Given the description of an element on the screen output the (x, y) to click on. 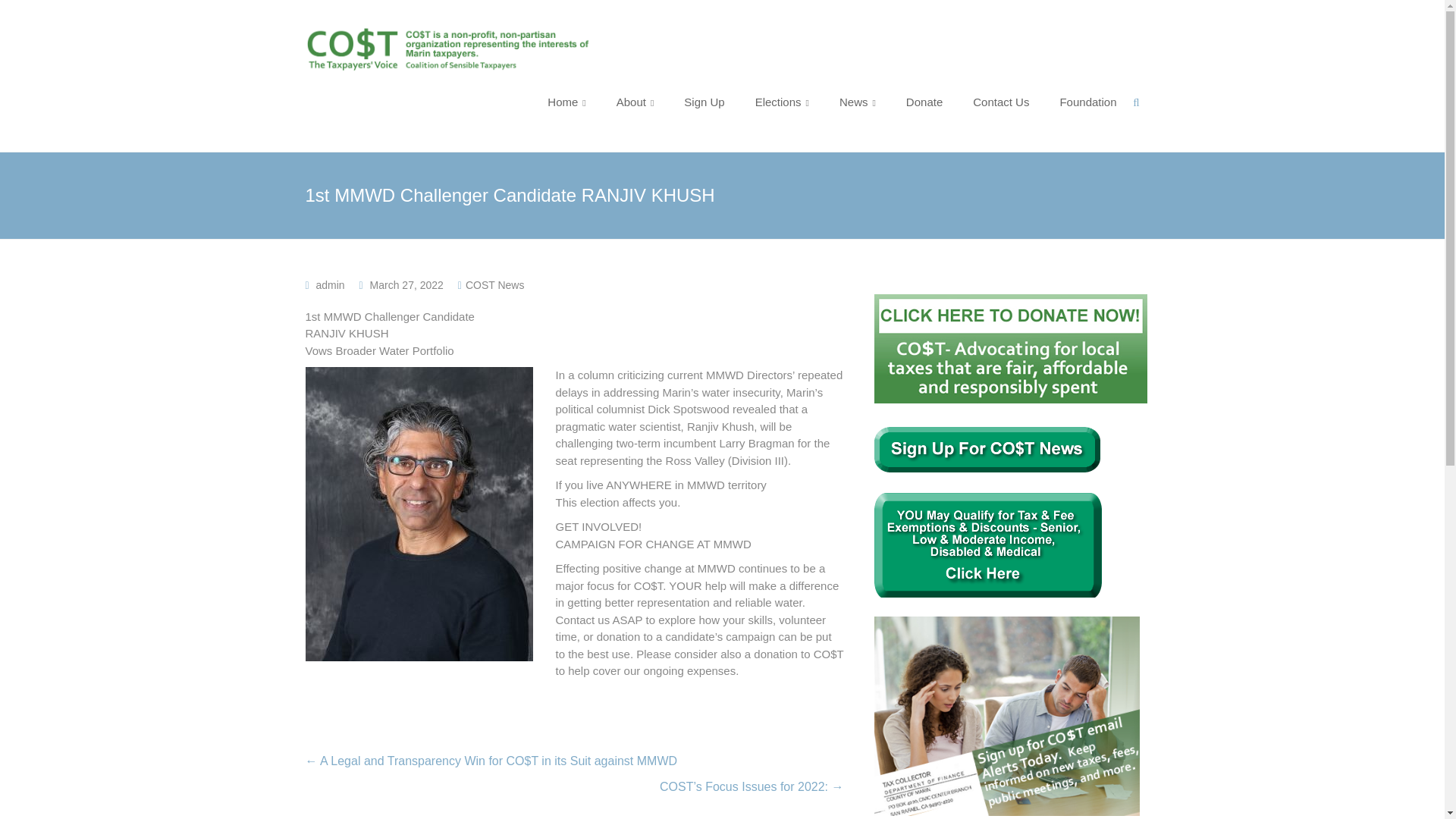
COSTMarin (673, 39)
9:52 am (406, 285)
Foundation (1087, 102)
Contact Us (1000, 102)
Elections (782, 102)
Donate (923, 102)
COST News (494, 285)
News (858, 102)
admin (330, 285)
About (634, 102)
March 27, 2022 (406, 285)
COSTMarin (673, 39)
Home (566, 102)
Sign Up (703, 102)
